Given the description of an element on the screen output the (x, y) to click on. 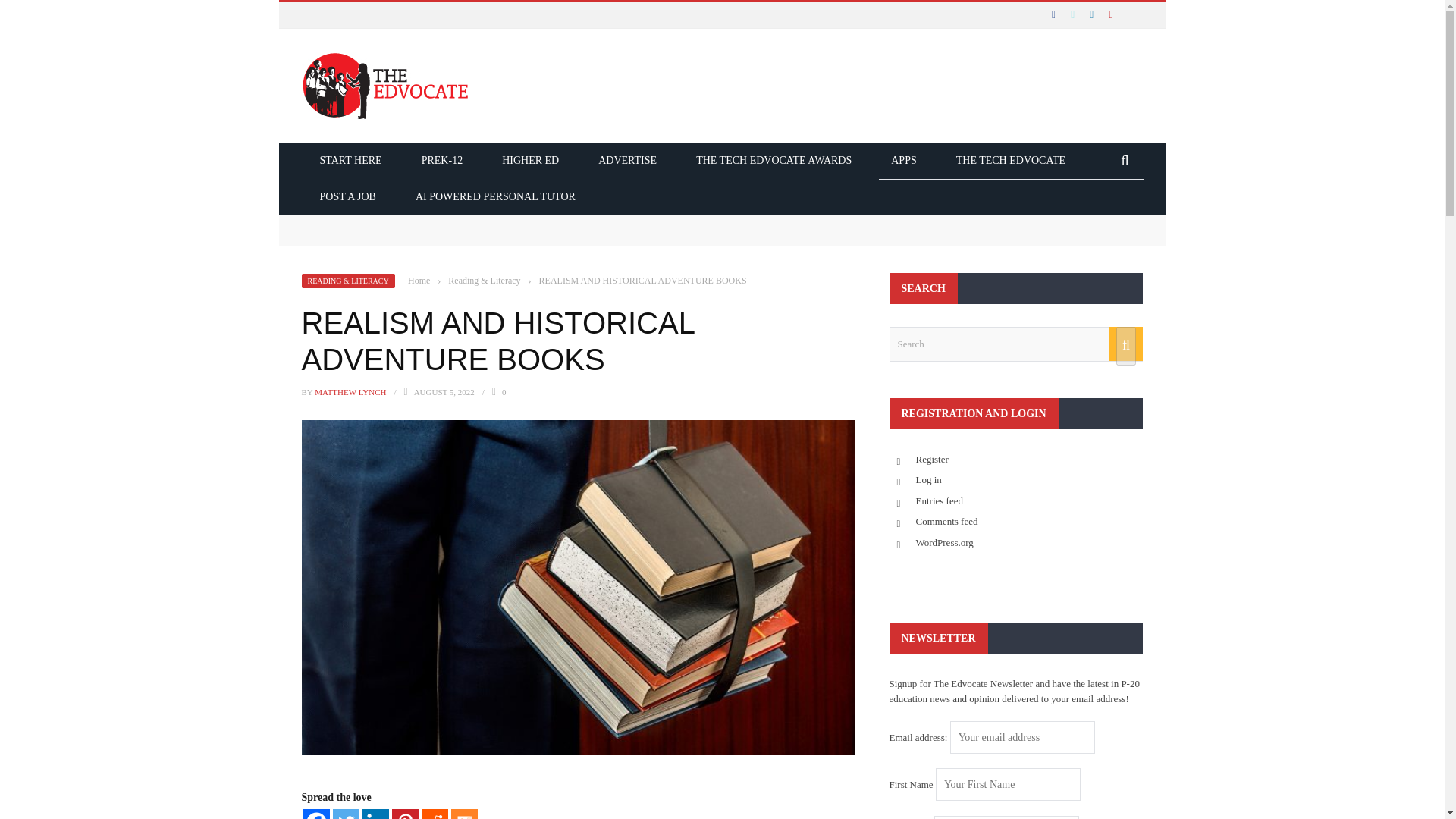
Mix (463, 814)
Facebook (316, 814)
Search (1015, 343)
Pinterest (404, 814)
Linkedin (375, 814)
Twitter (344, 814)
Reddit (435, 814)
